Given the description of an element on the screen output the (x, y) to click on. 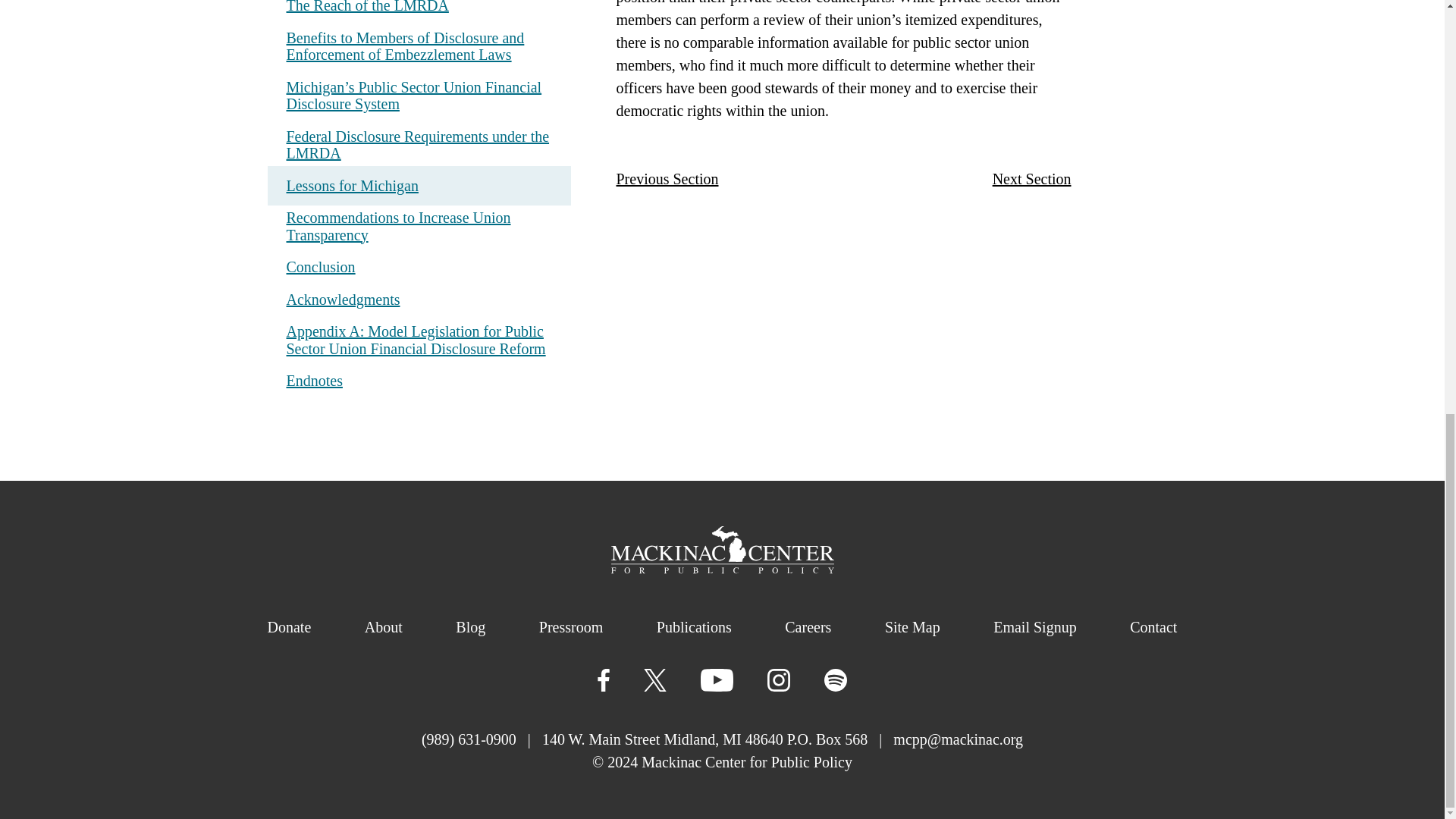
Lessons for Michigan (418, 186)
Next Section (1031, 178)
The Reach of the LMRDA (367, 6)
Blog (469, 626)
Previous Section (666, 178)
Conclusion (320, 266)
About (384, 626)
Federal Disclosure Requirements under the LMRDA (418, 144)
Acknowledgments (343, 298)
Recommendations to Increase Union Transparency (398, 226)
Donate (288, 626)
Pressroom (570, 626)
Endnotes (314, 380)
